Given the description of an element on the screen output the (x, y) to click on. 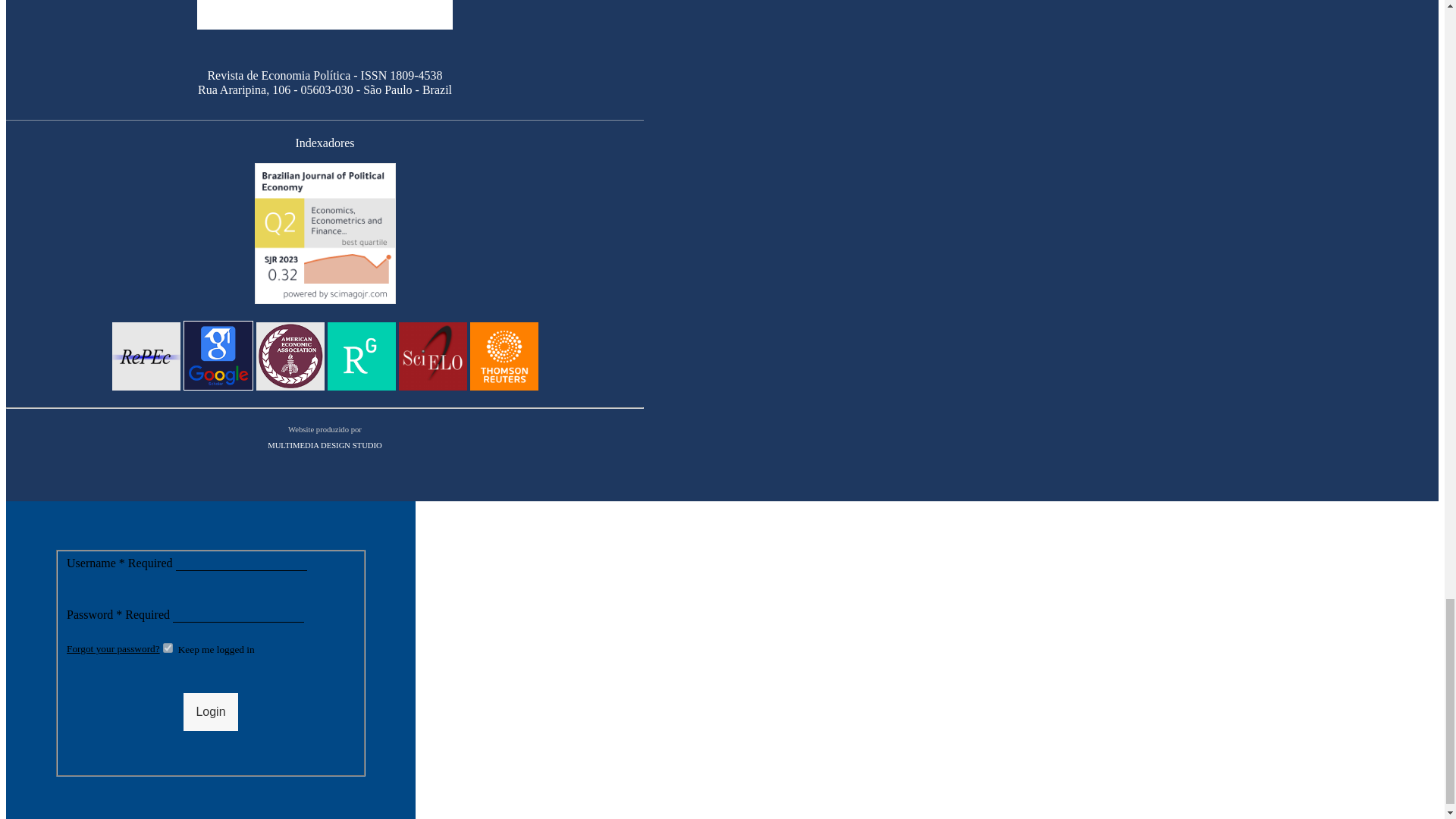
RESEARCHGATE (361, 387)
GOOGLE SCHOLAR (218, 387)
THOMSON REUTERS (504, 387)
SCIELO (432, 387)
1 (168, 647)
ECONLIT (290, 387)
REPEC (146, 387)
